Given the description of an element on the screen output the (x, y) to click on. 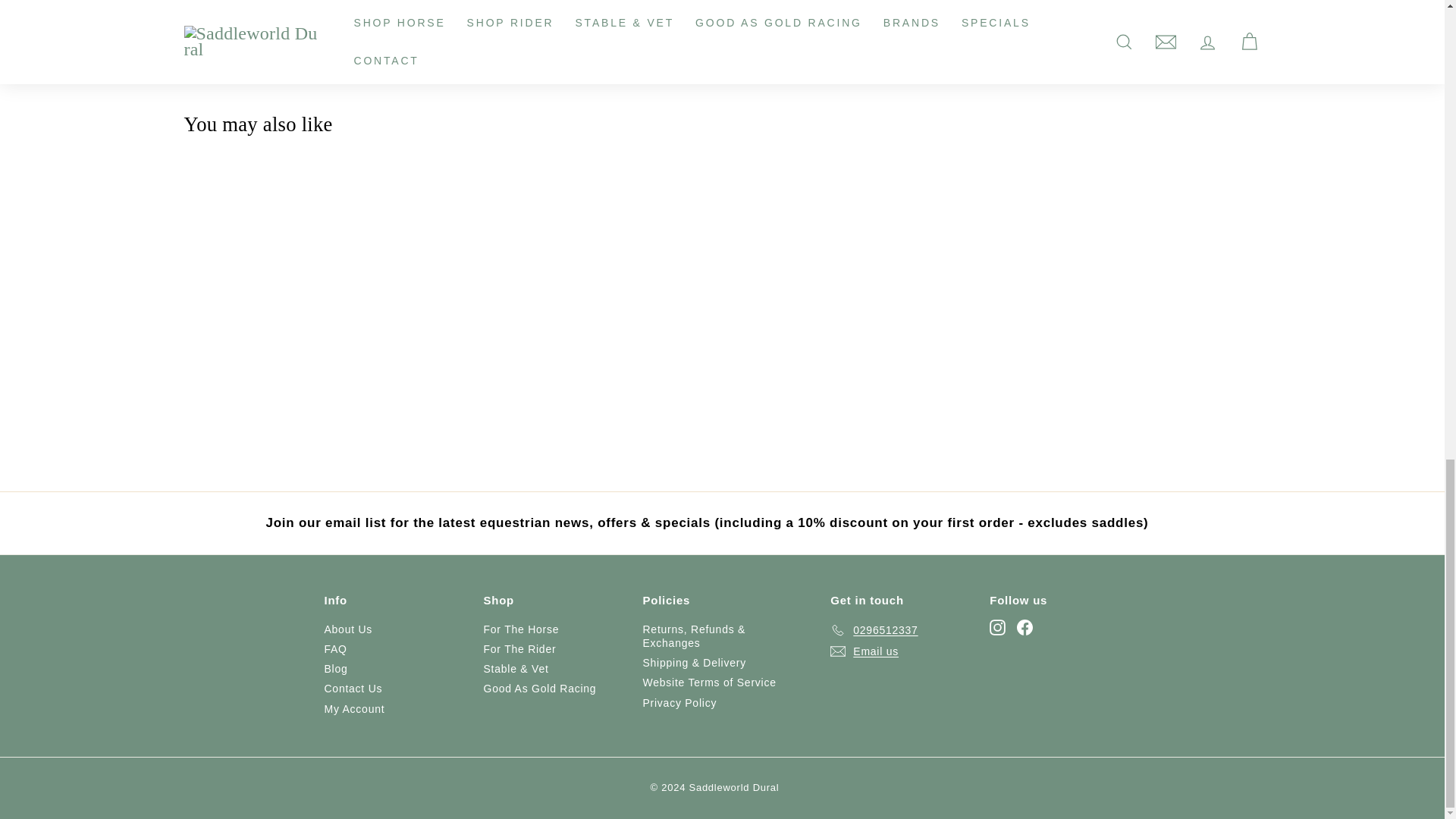
Saddleworld Dural on Facebook (1024, 627)
Saddleworld Dural on Instagram (998, 627)
